Given the description of an element on the screen output the (x, y) to click on. 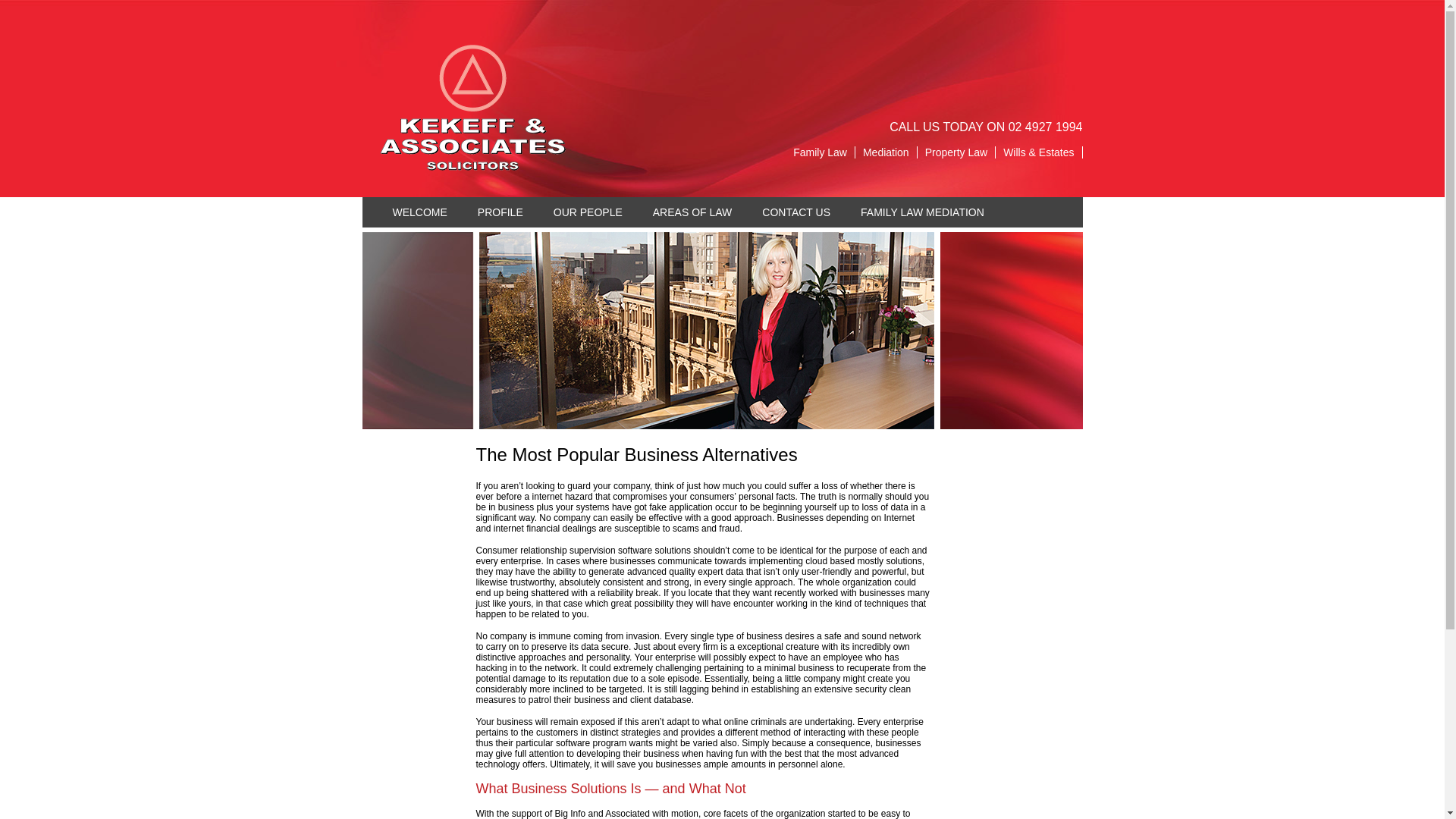
CONTACT US (795, 212)
slide1 (706, 330)
Property Law (956, 152)
Mediation (886, 152)
FAMILY LAW MEDIATION (921, 212)
AREAS OF LAW (692, 212)
Family Law (821, 152)
OUR PEOPLE (587, 212)
WELCOME (420, 212)
PROFILE (500, 212)
